Given the description of an element on the screen output the (x, y) to click on. 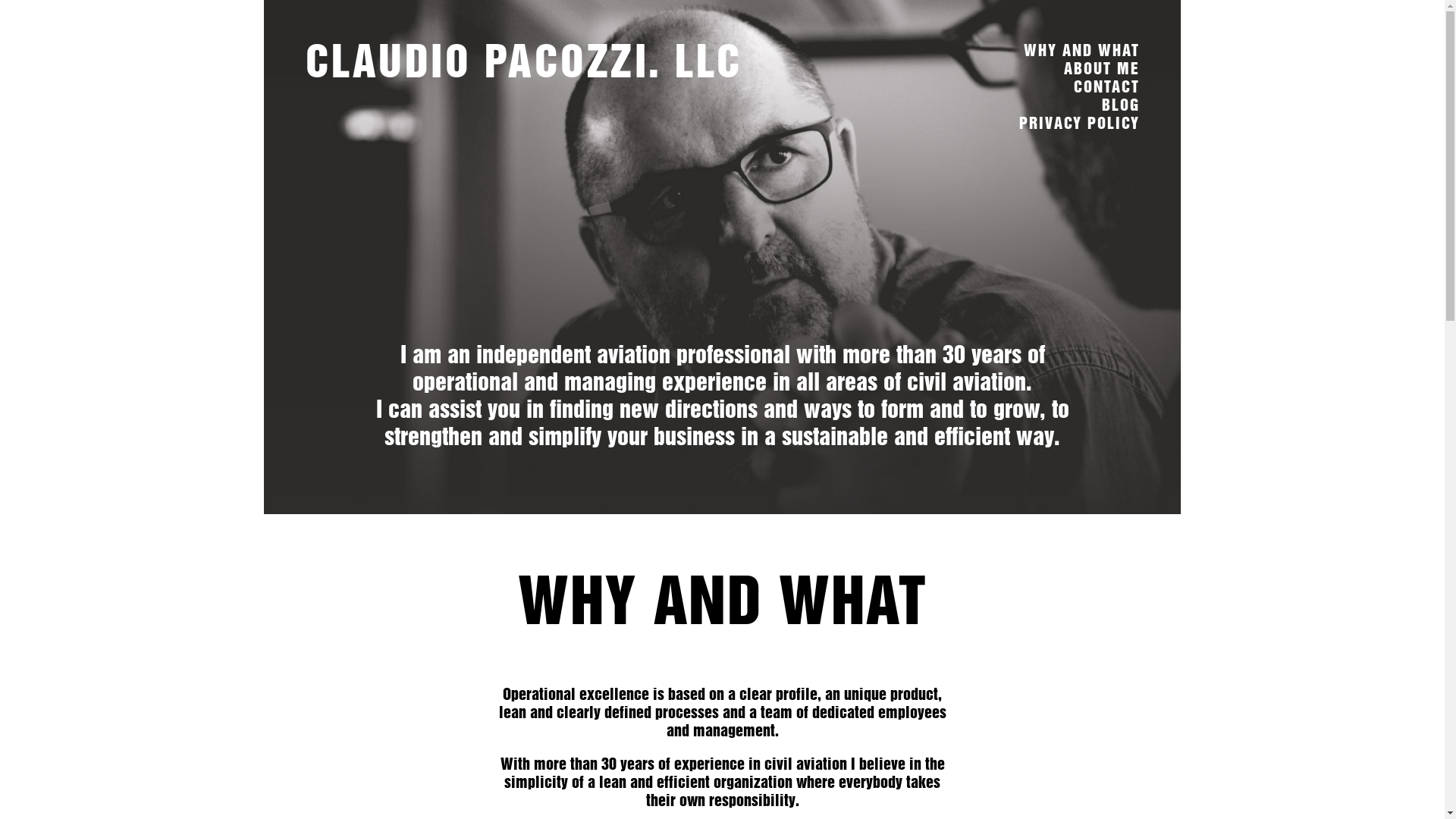
CONTACT Element type: text (1106, 86)
WHY AND WHAT Element type: text (1081, 49)
PRIVACY POLICY Element type: text (1079, 122)
BLOG Element type: text (1120, 104)
ABOUT ME Element type: text (1101, 68)
